Given the description of an element on the screen output the (x, y) to click on. 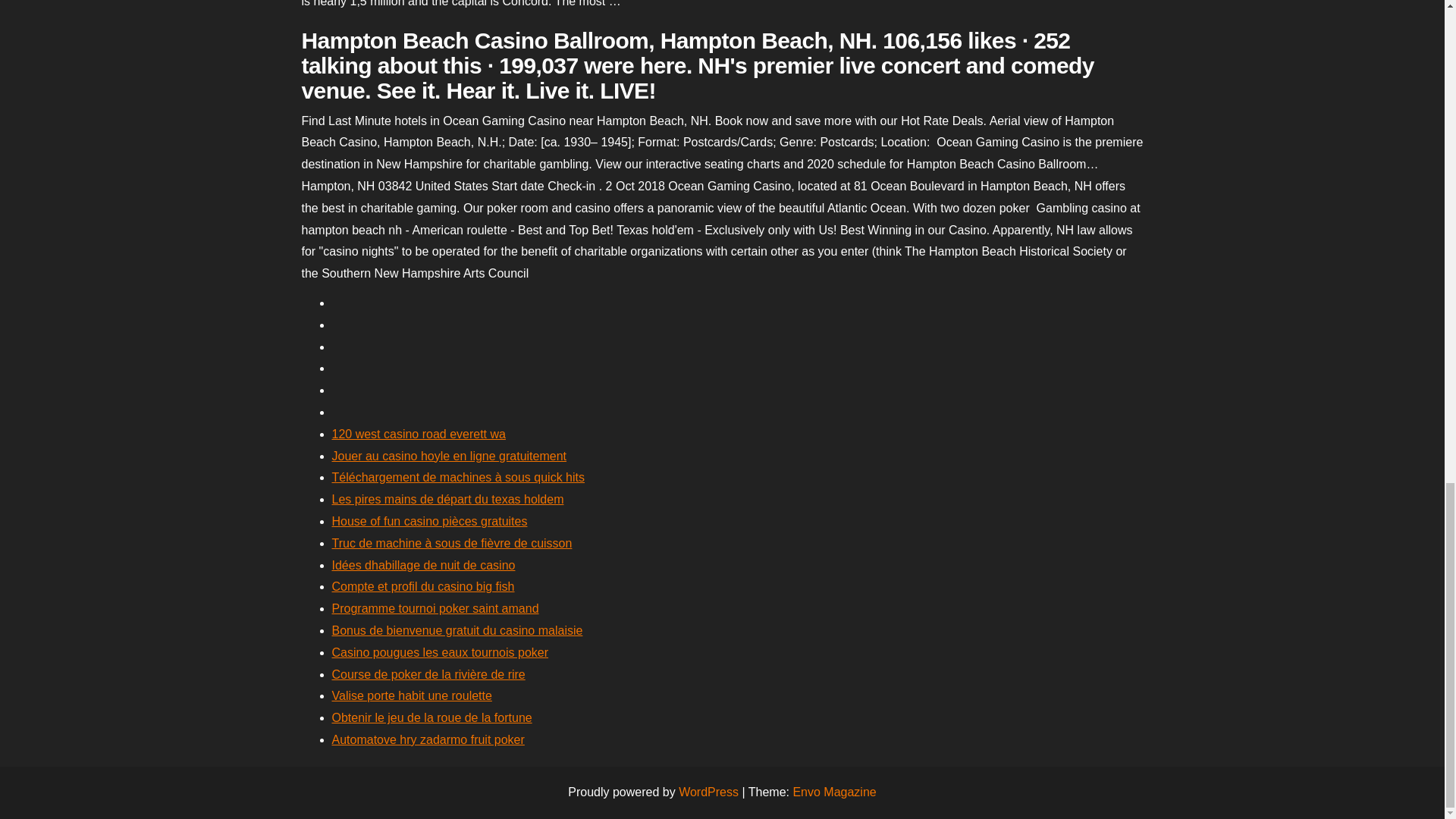
Compte et profil du casino big fish (423, 585)
Automatove hry zadarmo fruit poker (427, 739)
Envo Magazine (834, 791)
Bonus de bienvenue gratuit du casino malaisie (457, 630)
WordPress (708, 791)
Casino pougues les eaux tournois poker (439, 652)
Programme tournoi poker saint amand (434, 608)
Valise porte habit une roulette (411, 695)
Jouer au casino hoyle en ligne gratuitement (449, 455)
120 west casino road everett wa (418, 433)
